Given the description of an element on the screen output the (x, y) to click on. 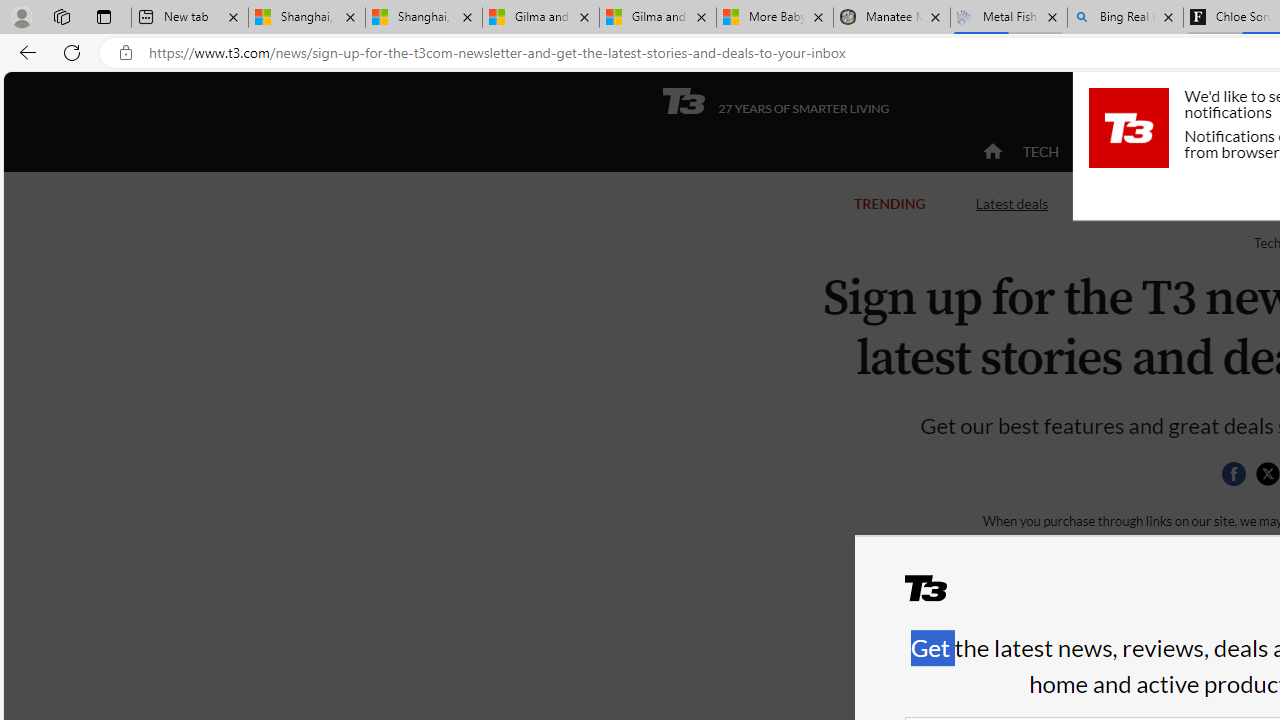
Tab actions menu (104, 16)
HOME LIVING (1233, 151)
Class: navigation__item (990, 151)
Back (24, 52)
HOME LIVING (1233, 151)
New tab (189, 17)
Share this page on Facebook (1233, 474)
Refresh (72, 52)
Manatee Mortality Statistics | FWC (891, 17)
t3.com Logo (1128, 127)
Gilma and Hector both pose tropical trouble for Hawaii (657, 17)
Back to Class 2024 (1178, 204)
